Given the description of an element on the screen output the (x, y) to click on. 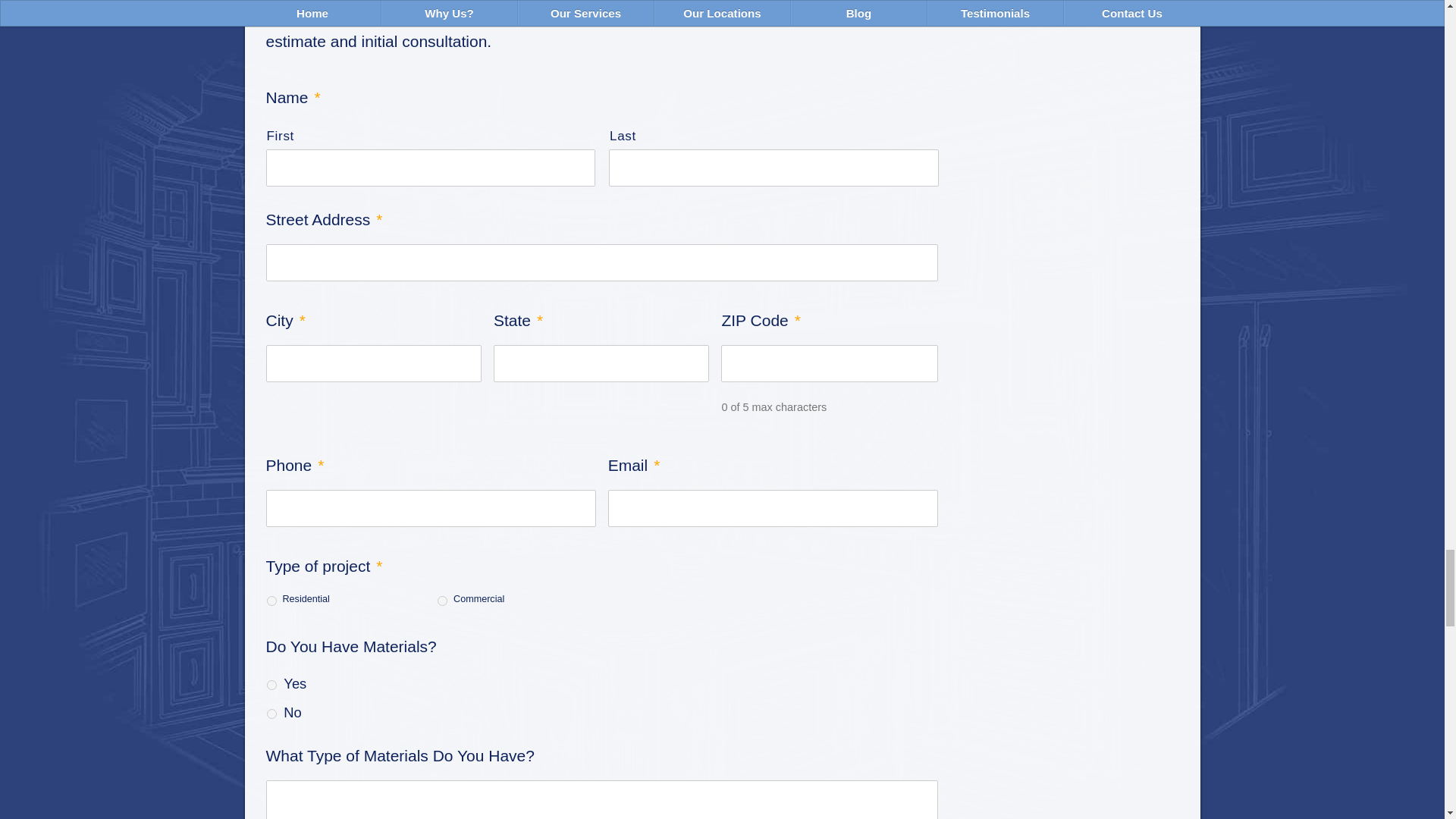
Yes (271, 685)
No (271, 714)
Commercial (442, 601)
Residential (271, 601)
